Given the description of an element on the screen output the (x, y) to click on. 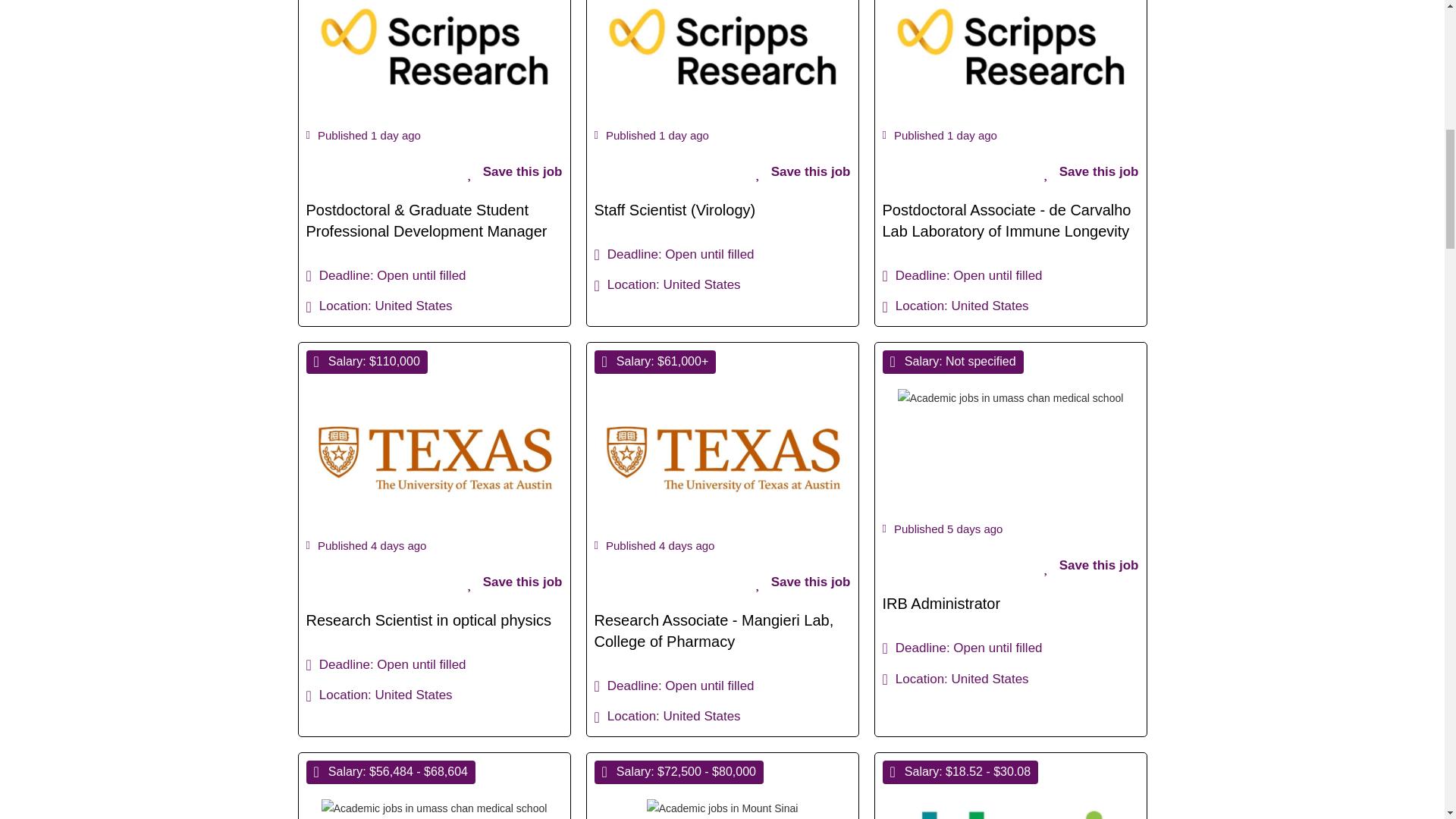
Save this job (514, 582)
Save this job (802, 172)
Save this job (514, 172)
Save this job (802, 582)
Save this job (1090, 172)
